Given the description of an element on the screen output the (x, y) to click on. 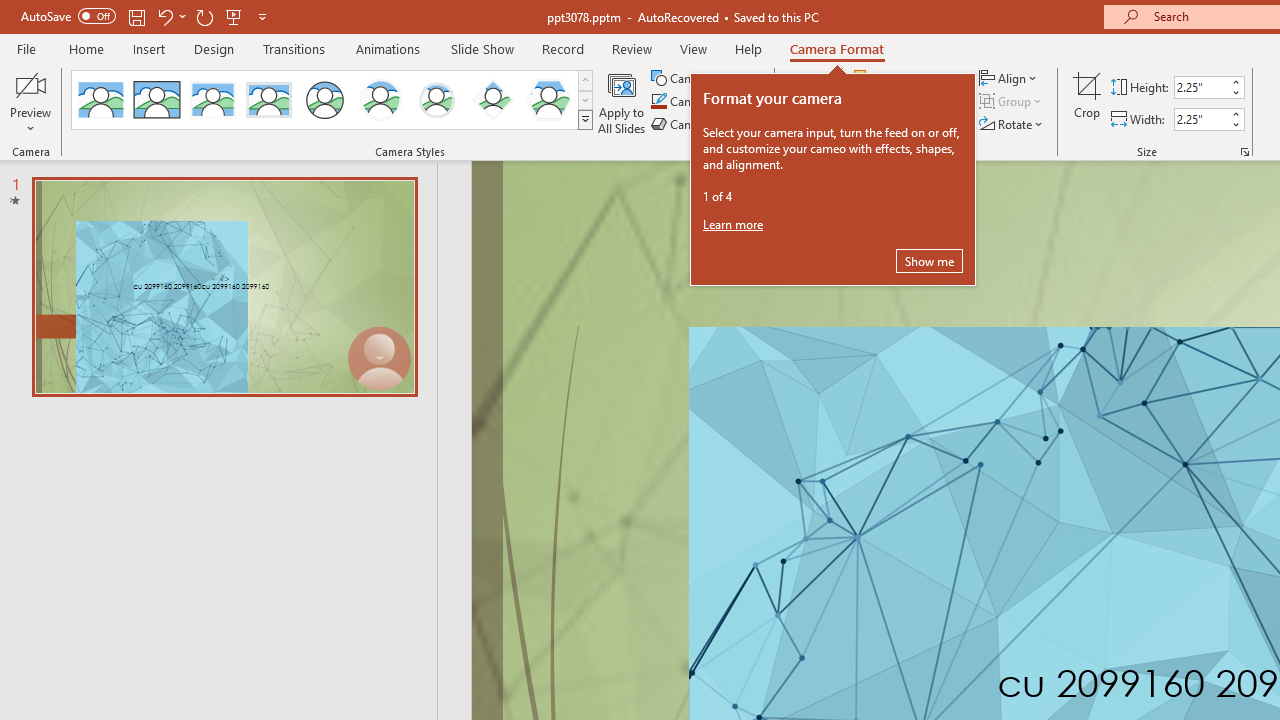
Center Shadow Diamond (492, 100)
Enable Camera Preview (30, 84)
Selection Pane... (904, 124)
Cameo Width (1201, 119)
Soft Edge Rectangle (268, 100)
Size and Position... (1244, 151)
